Given the description of an element on the screen output the (x, y) to click on. 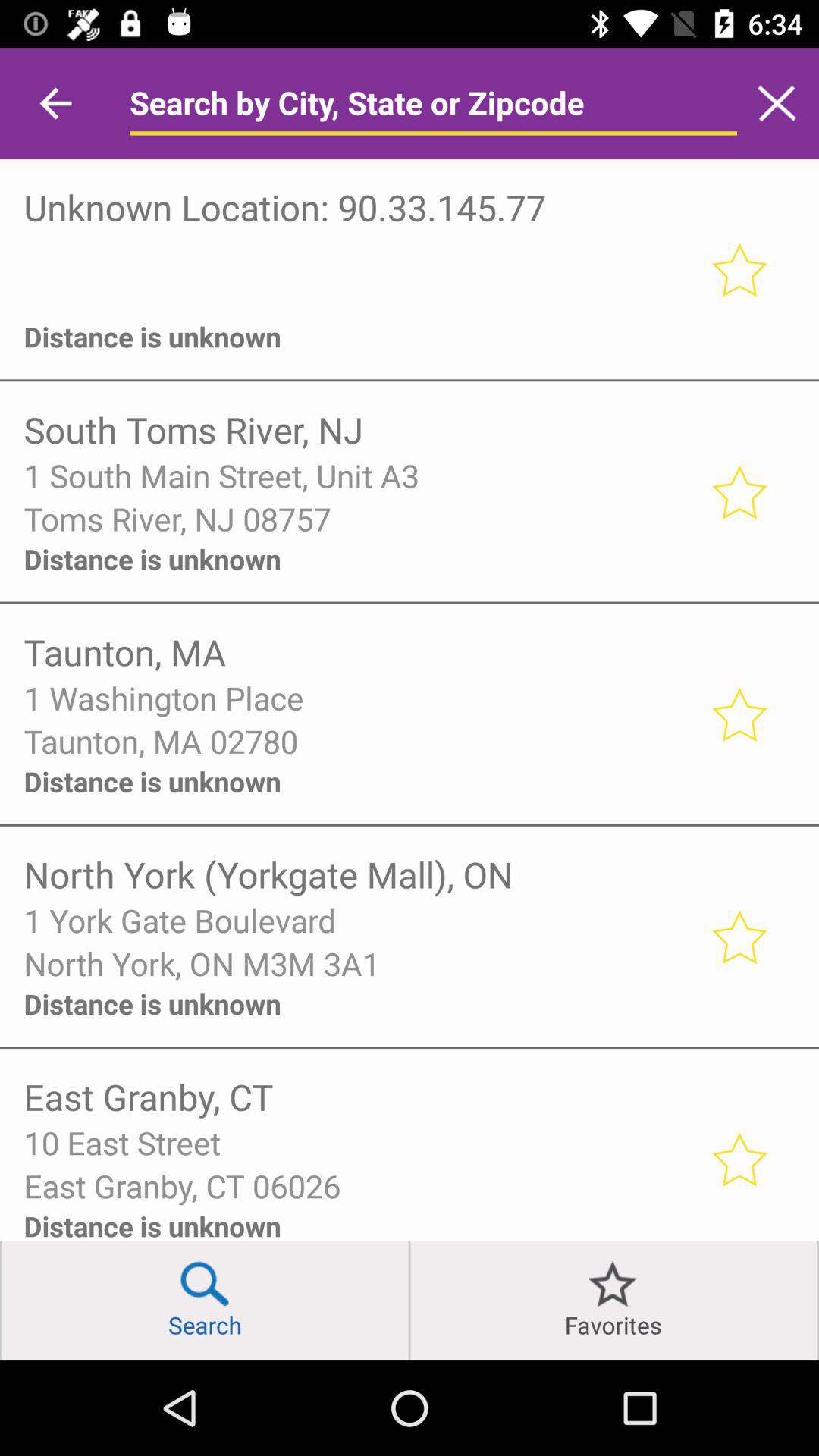
choose the icon next to search item (1, 1300)
